Given the description of an element on the screen output the (x, y) to click on. 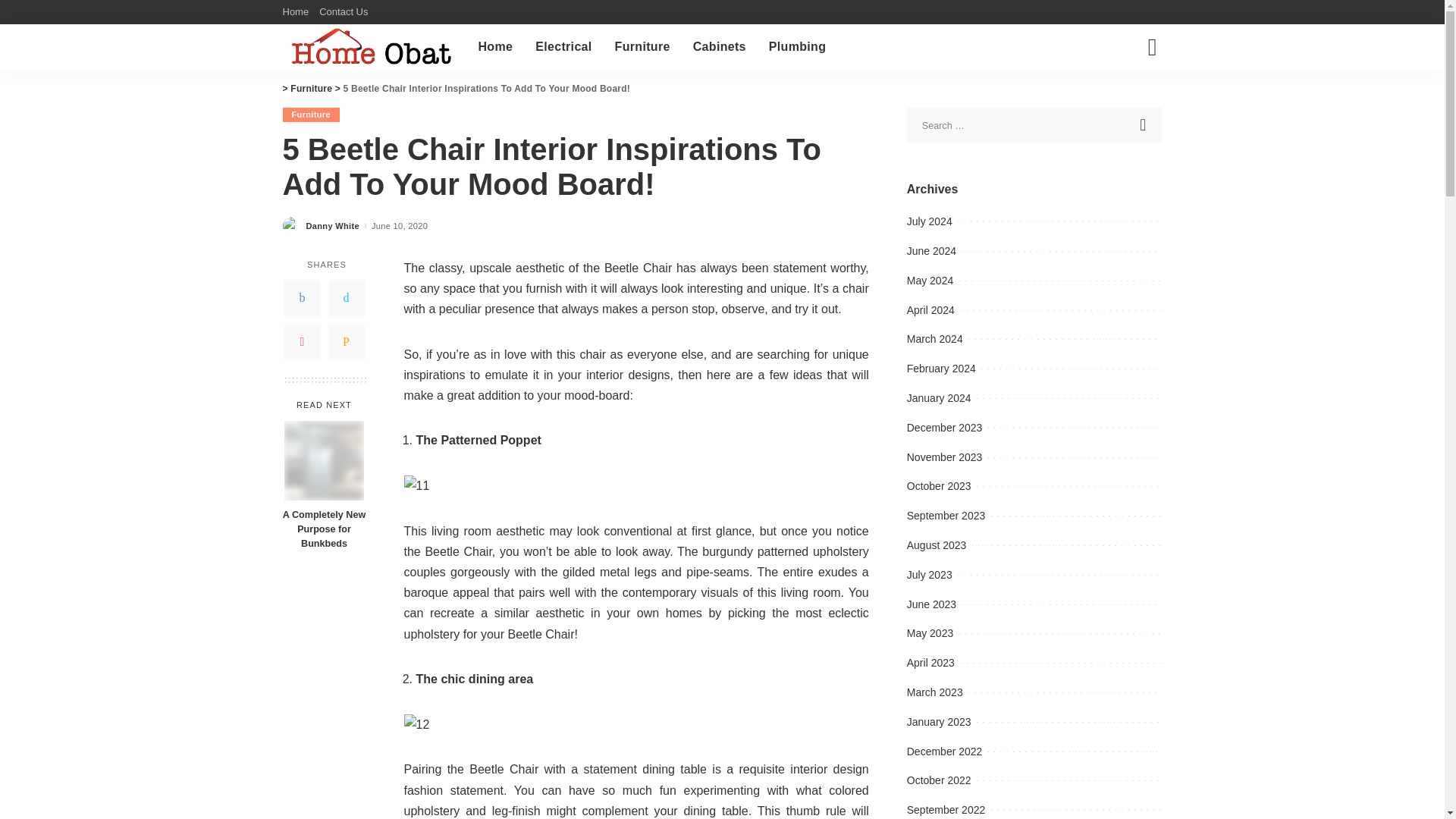
A Completely New Purpose for Bunkbeds (323, 529)
Twitter (345, 298)
A Completely New Purpose for Bunkbeds (323, 459)
Search (1143, 124)
Pinterest (301, 341)
Email (345, 341)
Search (1143, 124)
Go to the Furniture Category archives. (310, 88)
Facebook (301, 298)
